Given the description of an element on the screen output the (x, y) to click on. 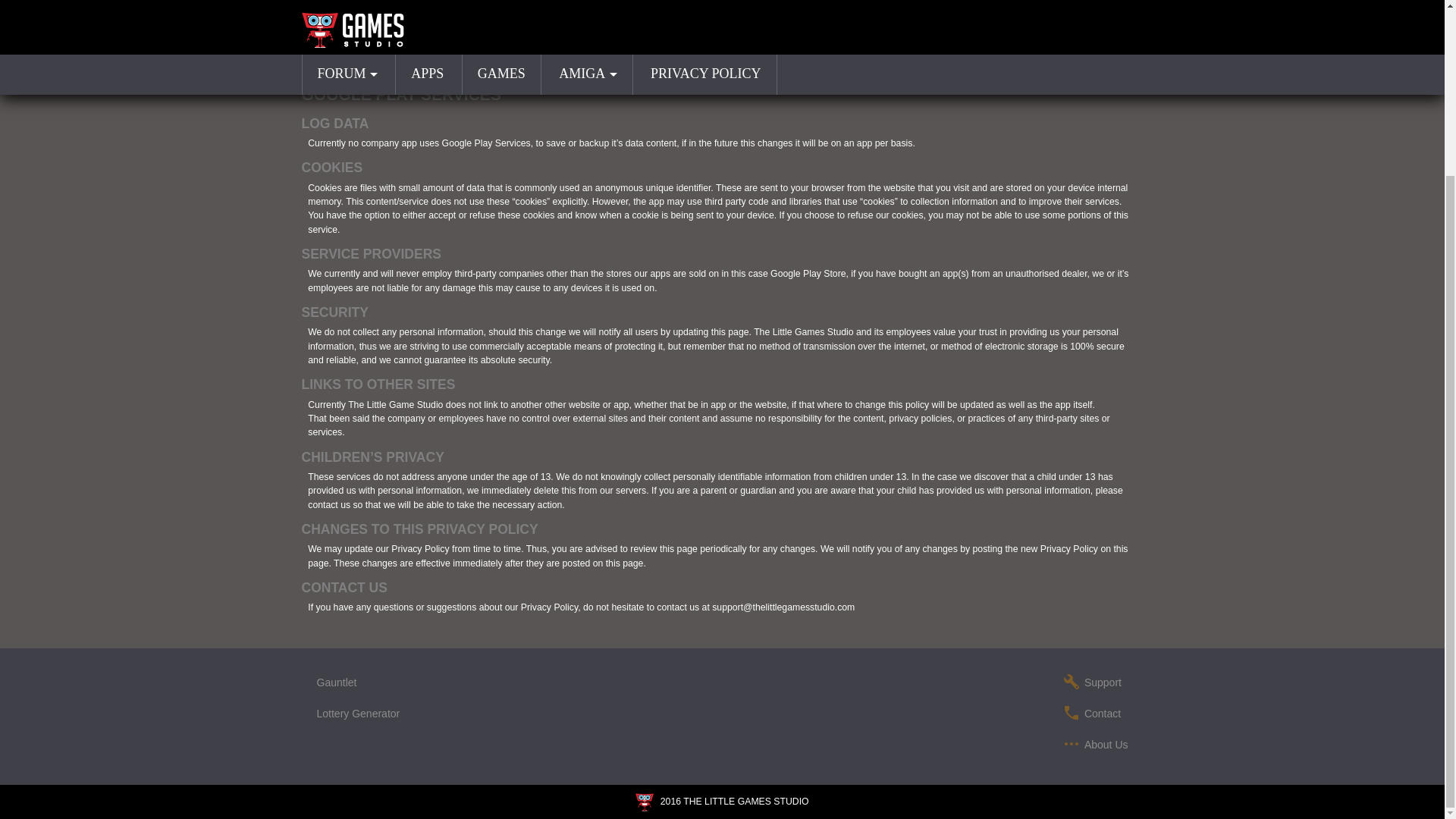
Support (1102, 682)
Lottery Generator (358, 713)
Gauntlet (336, 682)
Contact (1102, 713)
About Us (1106, 744)
